Given the description of an element on the screen output the (x, y) to click on. 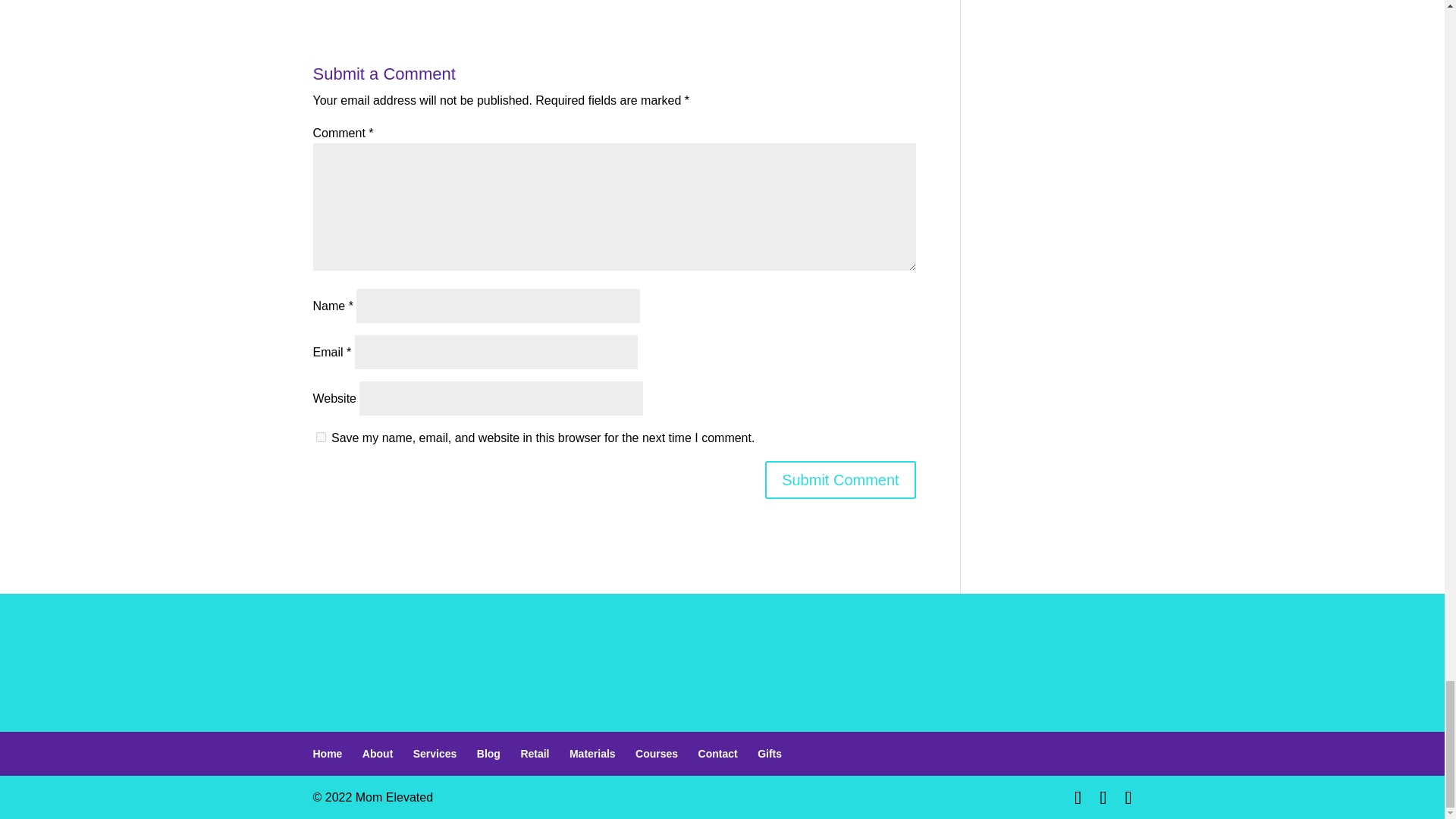
Submit Comment (840, 479)
Contact (718, 753)
Gifts (769, 753)
Submit Comment (840, 479)
Blog (488, 753)
yes (319, 437)
Courses (656, 753)
Materials (592, 753)
Services (435, 753)
About (377, 753)
